Given the description of an element on the screen output the (x, y) to click on. 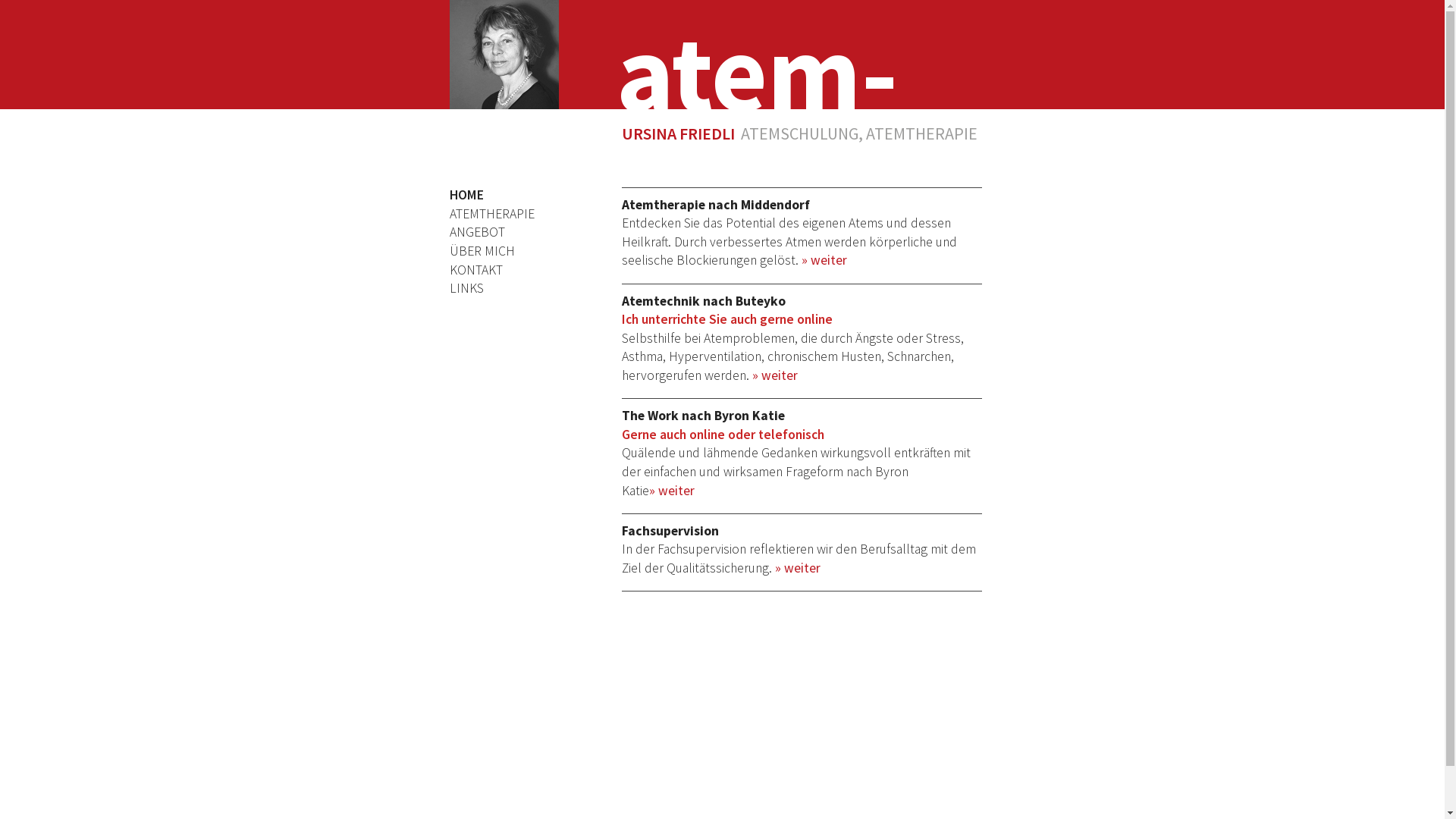
KONTAKT Element type: text (490, 269)
ANGEBOT Element type: text (490, 231)
ATEMTHERAPIE Element type: text (490, 213)
LINKS Element type: text (490, 288)
HOME Element type: text (490, 194)
